Given the description of an element on the screen output the (x, y) to click on. 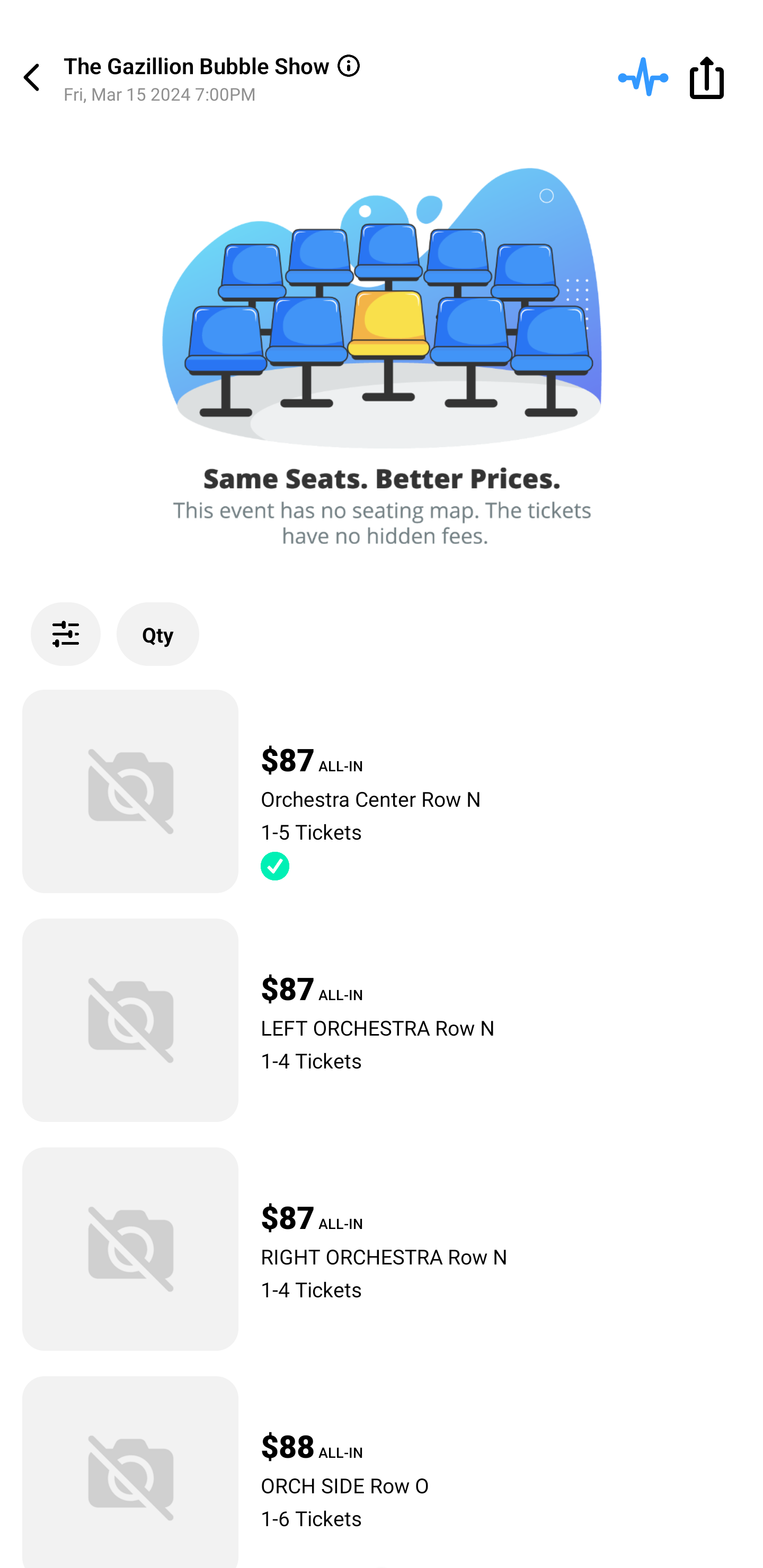
Qty (157, 634)
